Given the description of an element on the screen output the (x, y) to click on. 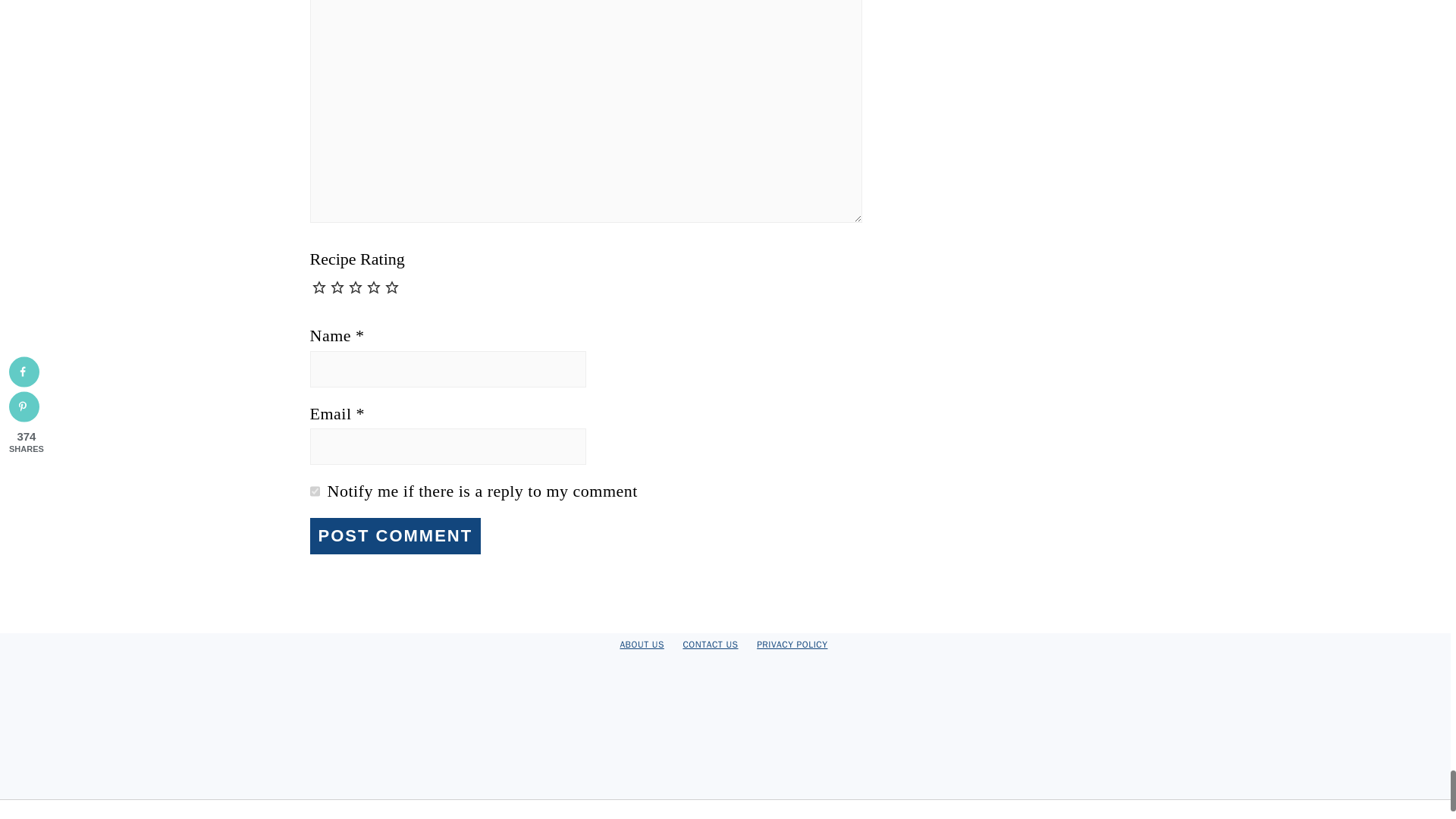
Post Comment (394, 535)
